Given the description of an element on the screen output the (x, y) to click on. 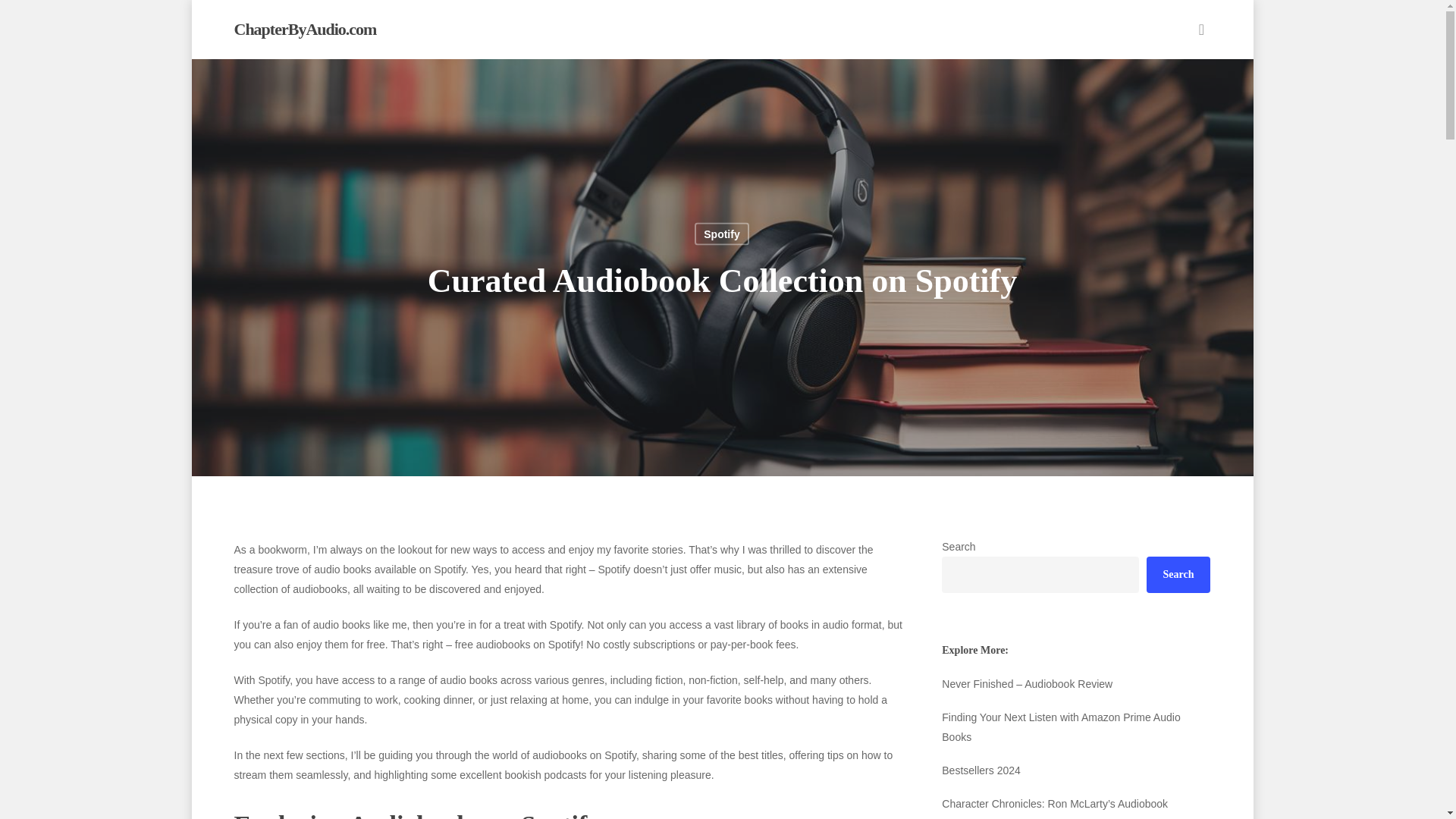
Spotify (721, 233)
Search (1179, 574)
ChapterByAudio.com (303, 29)
search (1200, 28)
Finding Your Next Listen with Amazon Prime Audio Books (1075, 726)
Bestsellers 2024 (1075, 770)
